Given the description of an element on the screen output the (x, y) to click on. 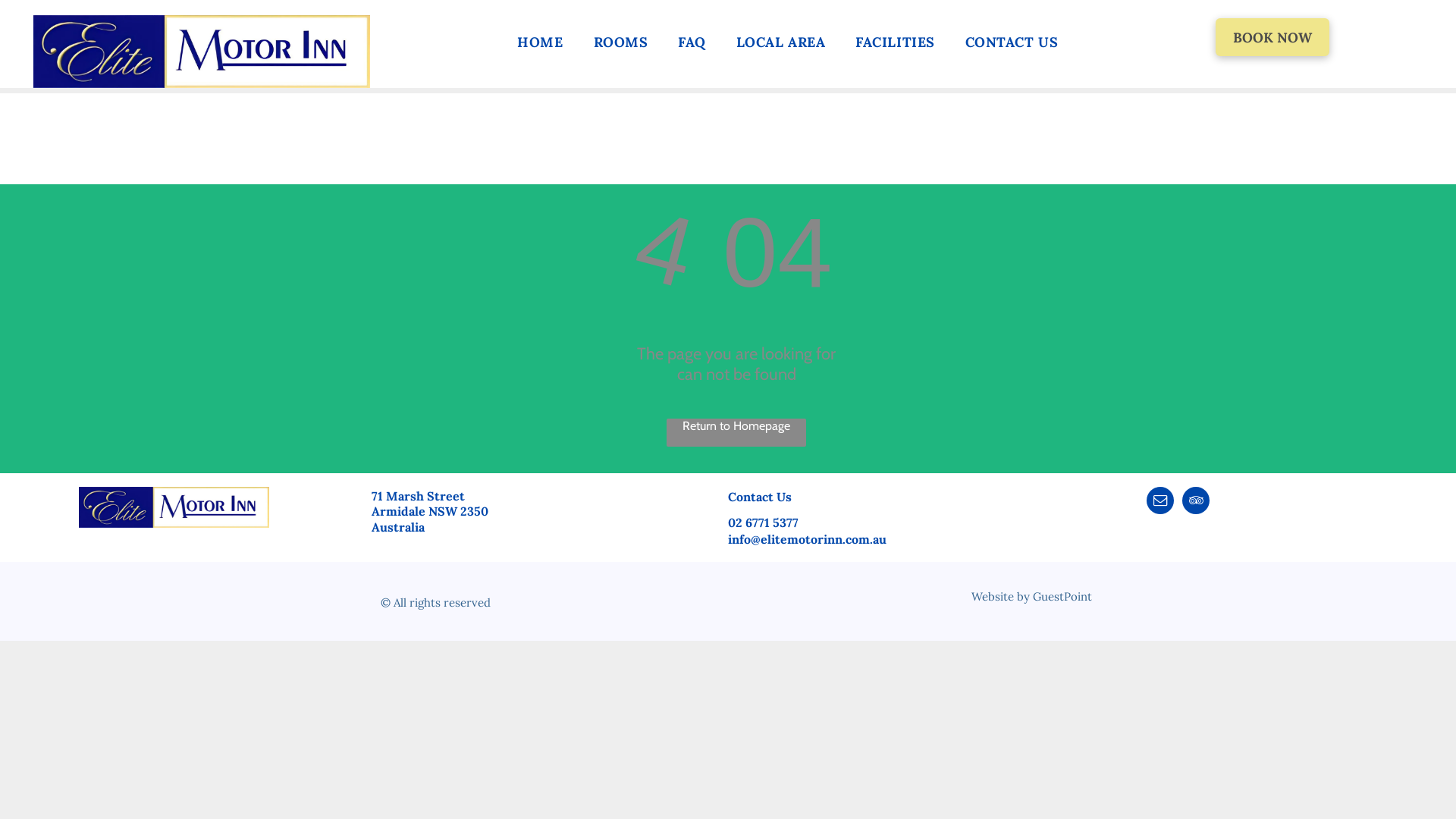
Website by GuestPoint Element type: text (1031, 595)
Return to Homepage Element type: text (736, 432)
BOOK NOW Element type: text (1272, 37)
FAQ Element type: text (691, 40)
CONTACT US Element type: text (1011, 40)
HOME Element type: text (539, 40)
LOCAL AREA Element type: text (780, 40)
ROOMS Element type: text (620, 40)
FACILITIES Element type: text (894, 40)
